Given the description of an element on the screen output the (x, y) to click on. 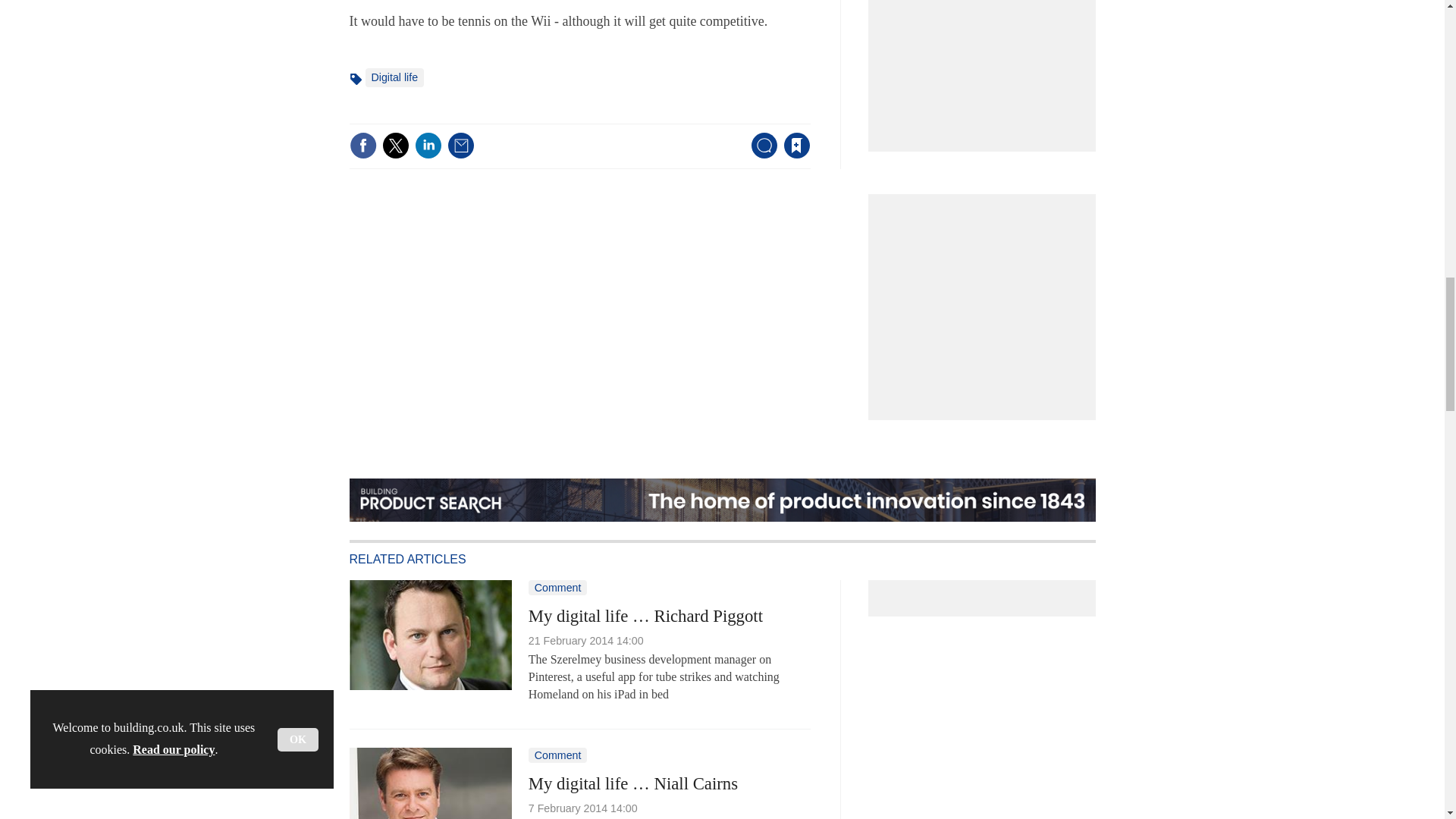
3rd party ad content (985, 63)
3rd party ad content (985, 298)
Email this article (460, 144)
Share this on Twitter (395, 144)
No comments (759, 154)
Share this on Linked in (427, 144)
Share this on Facebook (362, 144)
